Given the description of an element on the screen output the (x, y) to click on. 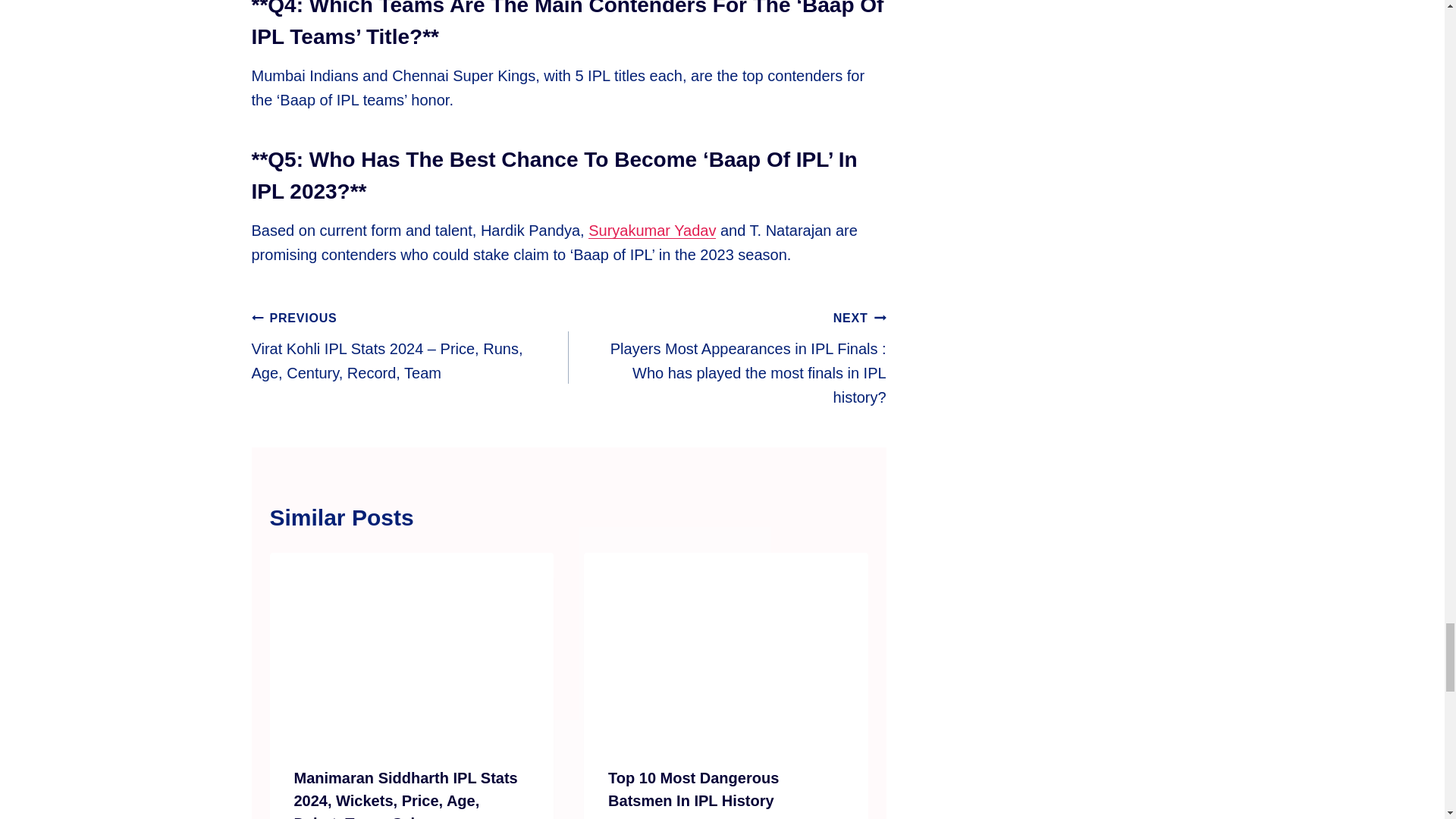
Suryakumar Yadav (652, 230)
Top 10 Most Dangerous Batsmen In IPL History (693, 789)
